Given the description of an element on the screen output the (x, y) to click on. 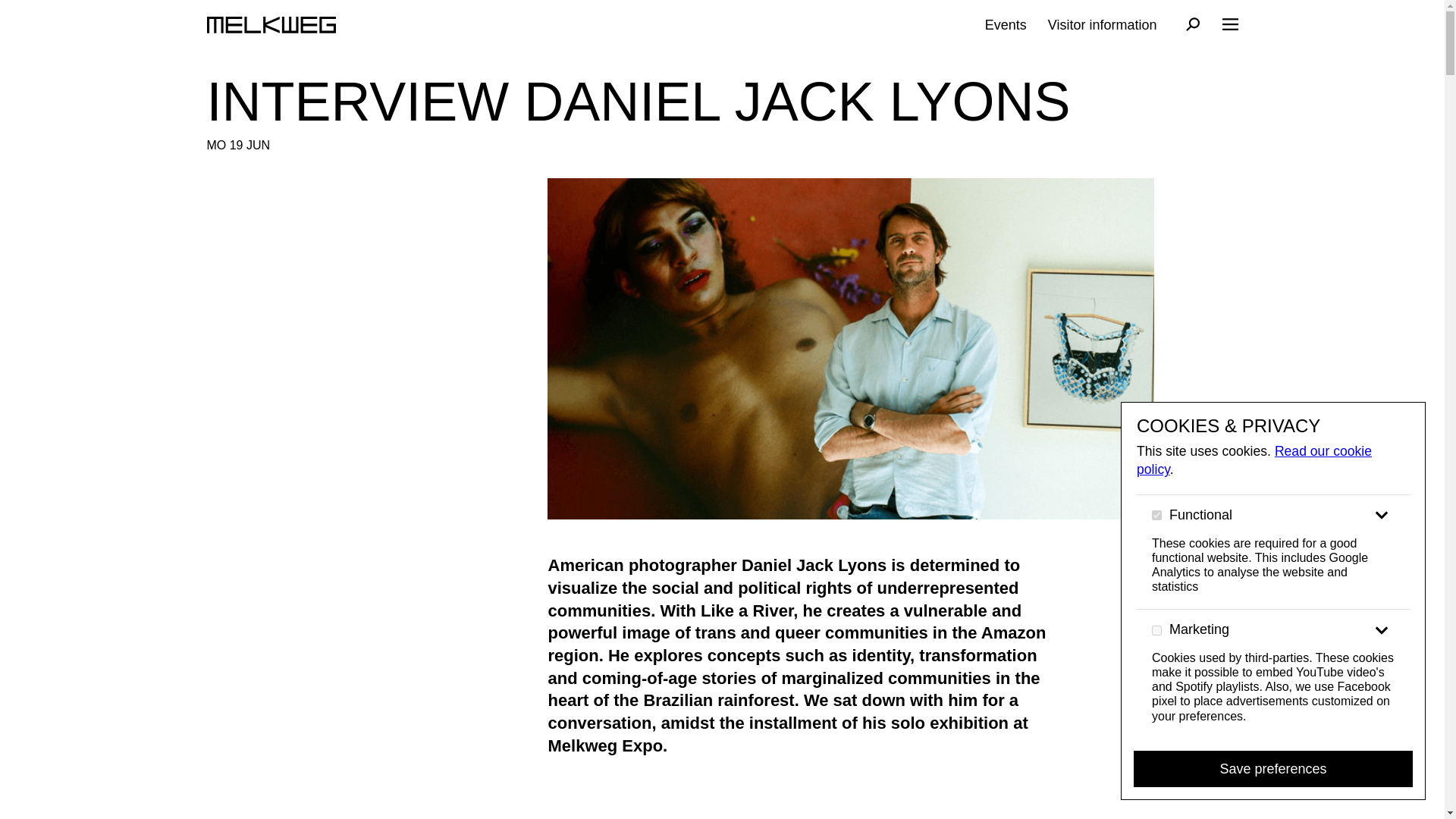
Home (270, 24)
Open menu (1228, 24)
Events (1005, 24)
Visitor information (1102, 24)
Open search form (1192, 25)
